Given the description of an element on the screen output the (x, y) to click on. 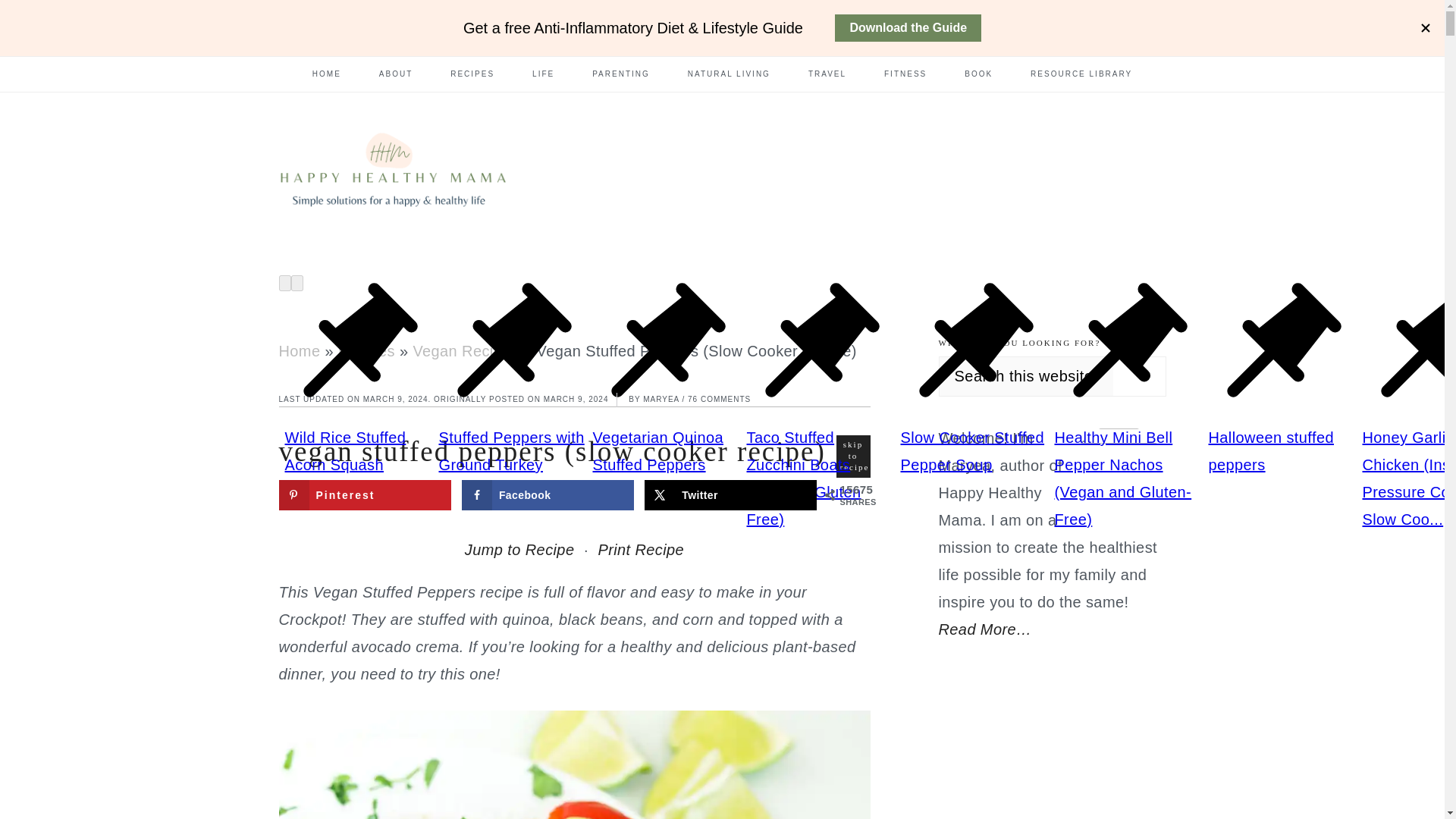
Pinterest (365, 494)
Print Recipe (640, 549)
Share on Facebook (547, 494)
BOOK (978, 74)
LIFE (543, 74)
MARYEA (661, 398)
Recipes (365, 351)
skip to recipe (852, 455)
Facebook (547, 494)
NATURAL LIVING (728, 74)
RESOURCE LIBRARY (1081, 74)
TRAVEL (826, 74)
Vegan Recipes (465, 351)
Home (299, 351)
FITNESS (905, 74)
